Given the description of an element on the screen output the (x, y) to click on. 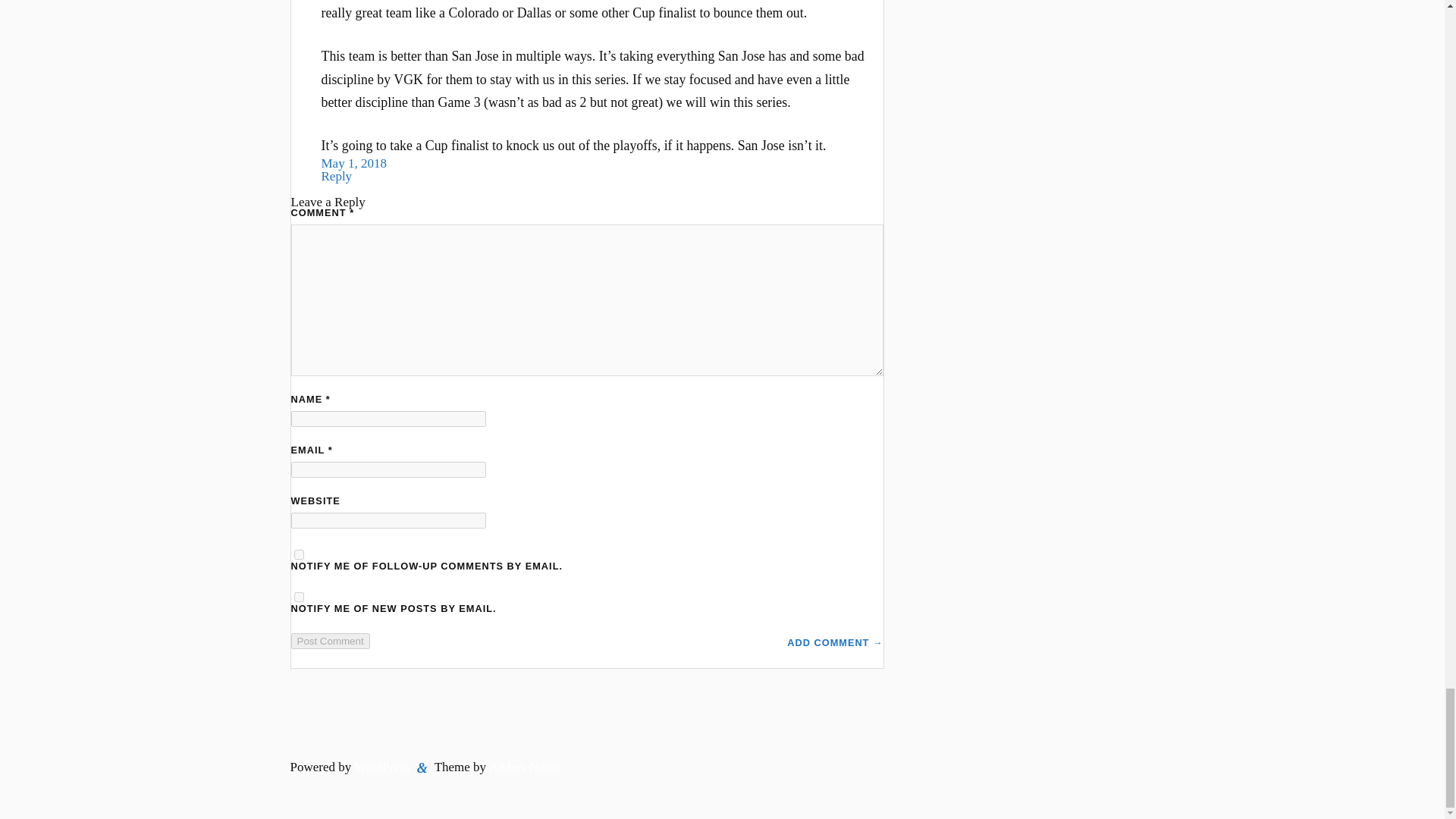
May 1, 2018 at 9:34 AM (354, 163)
Post Comment (330, 641)
subscribe (299, 554)
subscribe (299, 596)
